Given the description of an element on the screen output the (x, y) to click on. 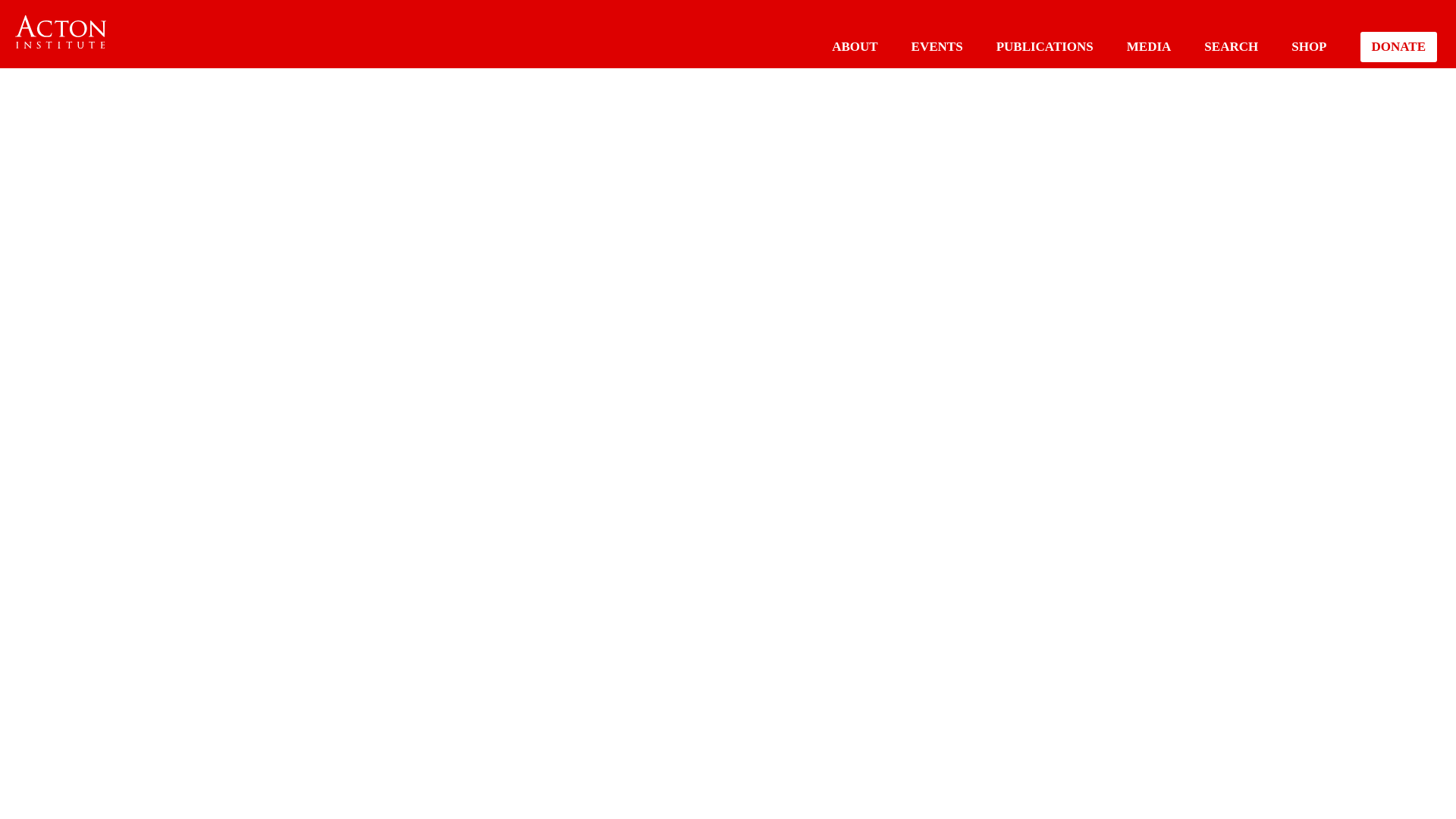
DONATE (1398, 46)
PUBLICATIONS (1044, 46)
MEDIA (1149, 46)
The Acton Institute (60, 31)
ABOUT (854, 46)
EVENTS (936, 46)
SEARCH (1230, 46)
SHOP (1308, 46)
